Given the description of an element on the screen output the (x, y) to click on. 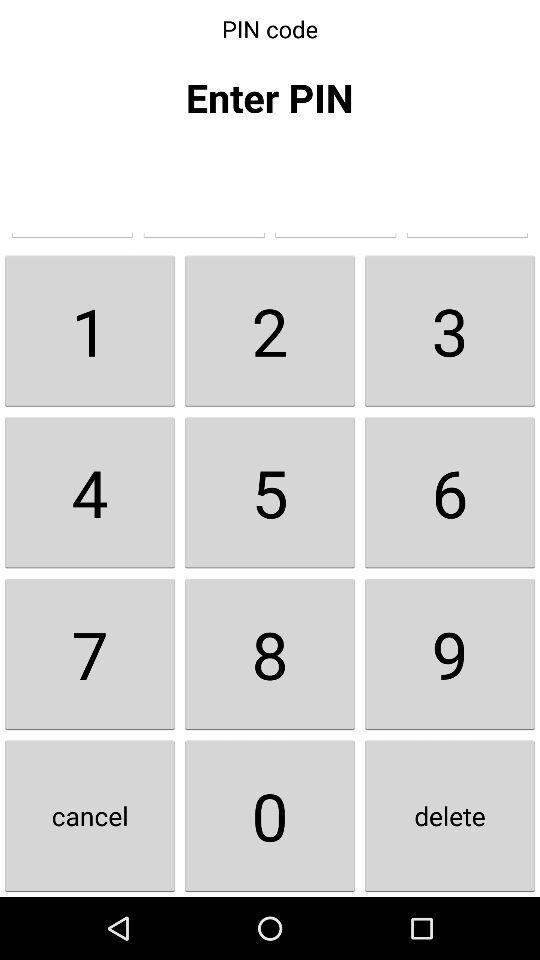
scroll to the 6 icon (450, 492)
